Given the description of an element on the screen output the (x, y) to click on. 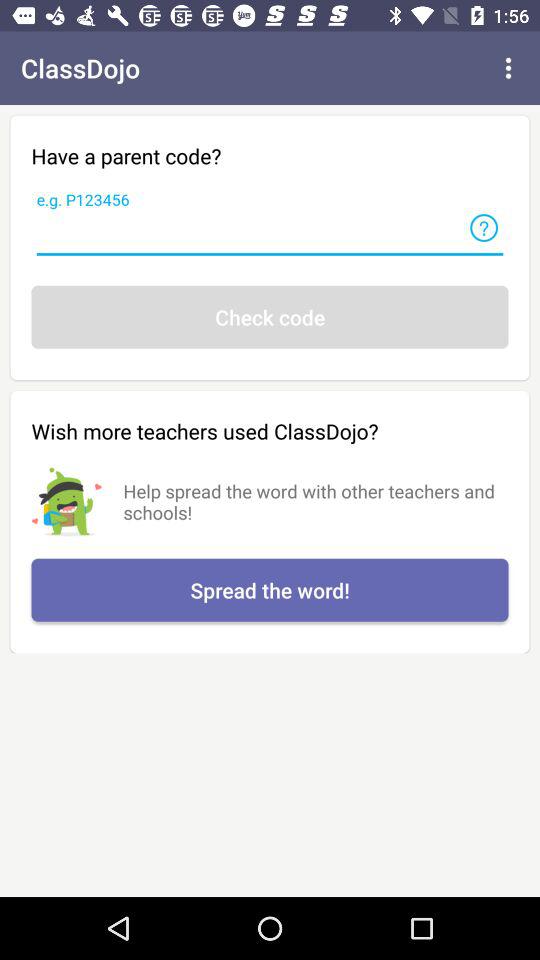
enter parent code (269, 234)
